Given the description of an element on the screen output the (x, y) to click on. 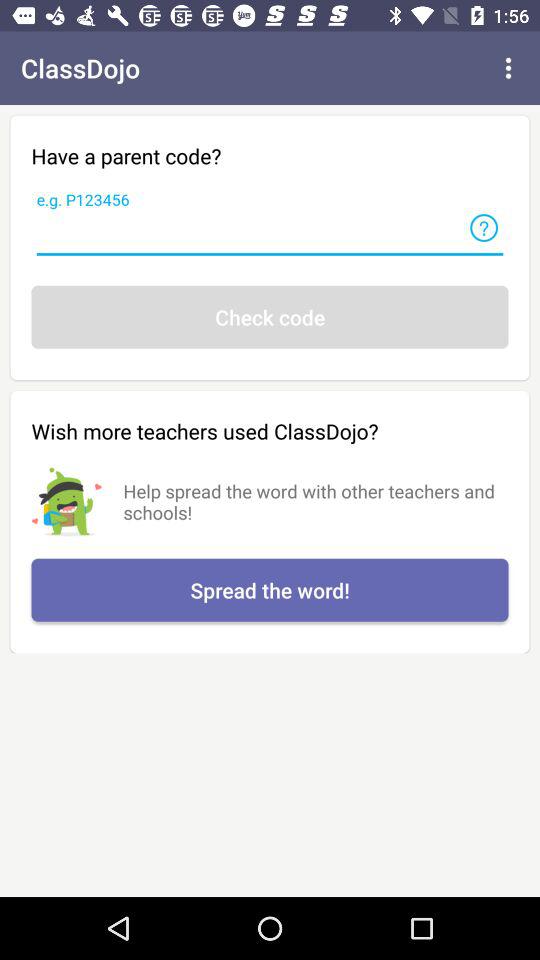
enter parent code (269, 234)
